Given the description of an element on the screen output the (x, y) to click on. 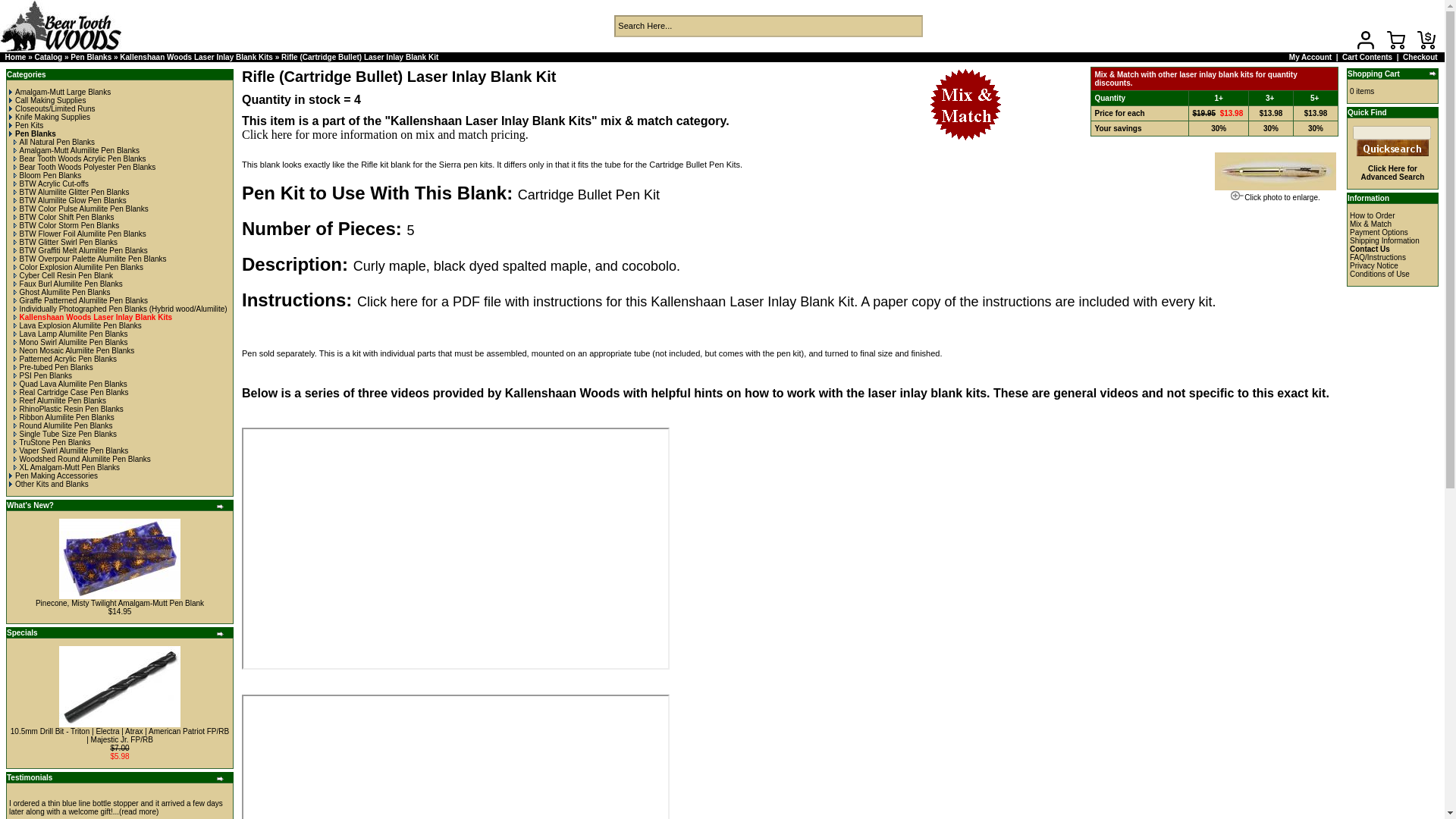
Call Making Supplies (46, 100)
BTW Color Shift Pen Blanks (64, 216)
 more  (220, 778)
Kallenshaan Woods Laser Inlay Blank Kits (93, 316)
 Bear Tooth Woods  (60, 26)
Home (15, 57)
Pen Kits (25, 125)
BTW Flower Foil Alumilite Pen Blanks (80, 234)
Kallenshaan Woods Laser Inlay Blank Kits (196, 57)
All Natural Pen Blanks (54, 142)
